Given the description of an element on the screen output the (x, y) to click on. 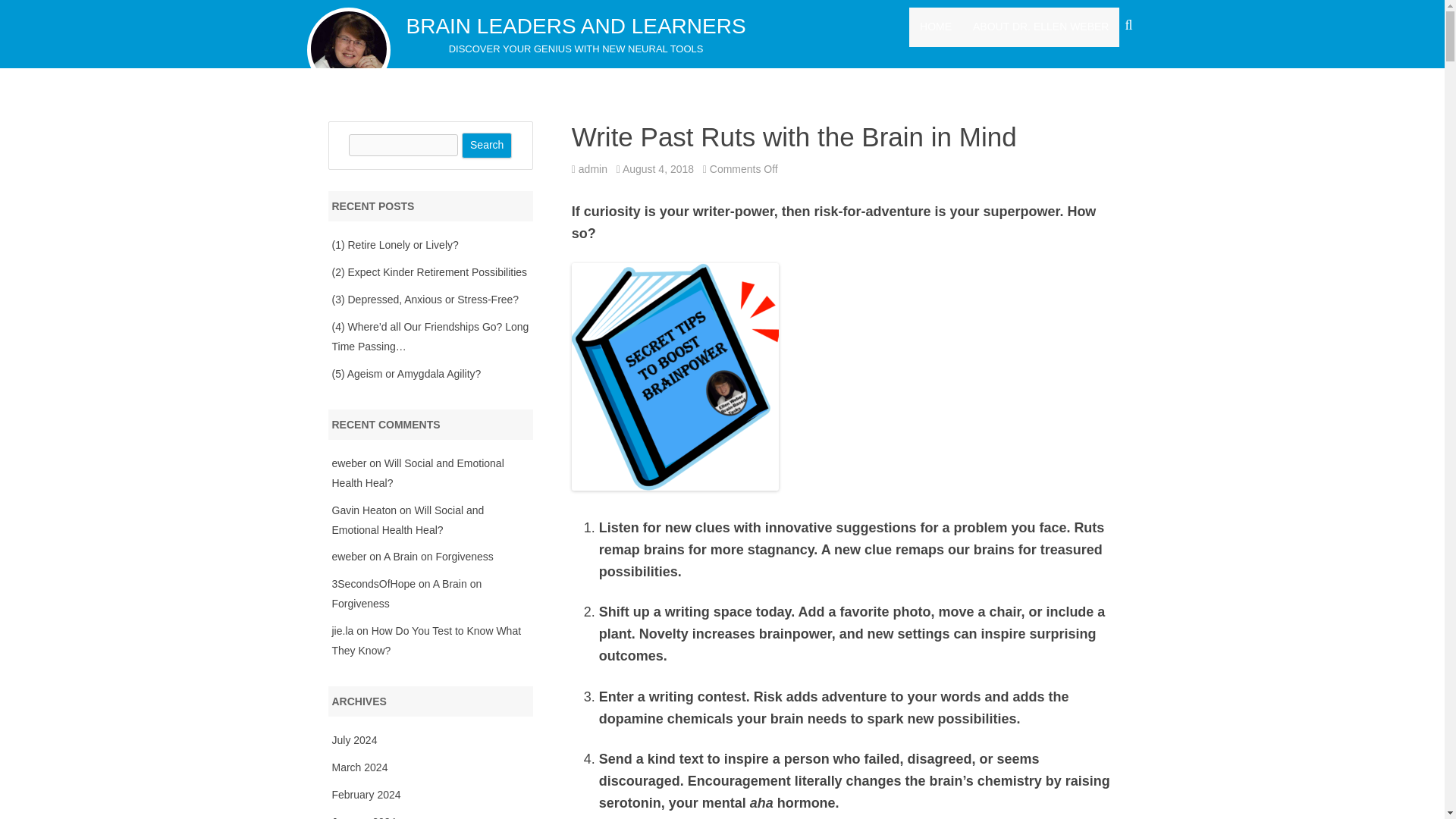
Gavin Heaton (364, 510)
Search (486, 145)
Search (486, 145)
admin (592, 168)
Will Social and Emotional Health Heal? (417, 472)
Will Social and Emotional Health Heal? (407, 520)
ABOUT DR. ELLEN WEBER (1040, 26)
eweber (348, 463)
A Brain on Forgiveness (438, 556)
Brain Leaders And Learners (575, 26)
